Given the description of an element on the screen output the (x, y) to click on. 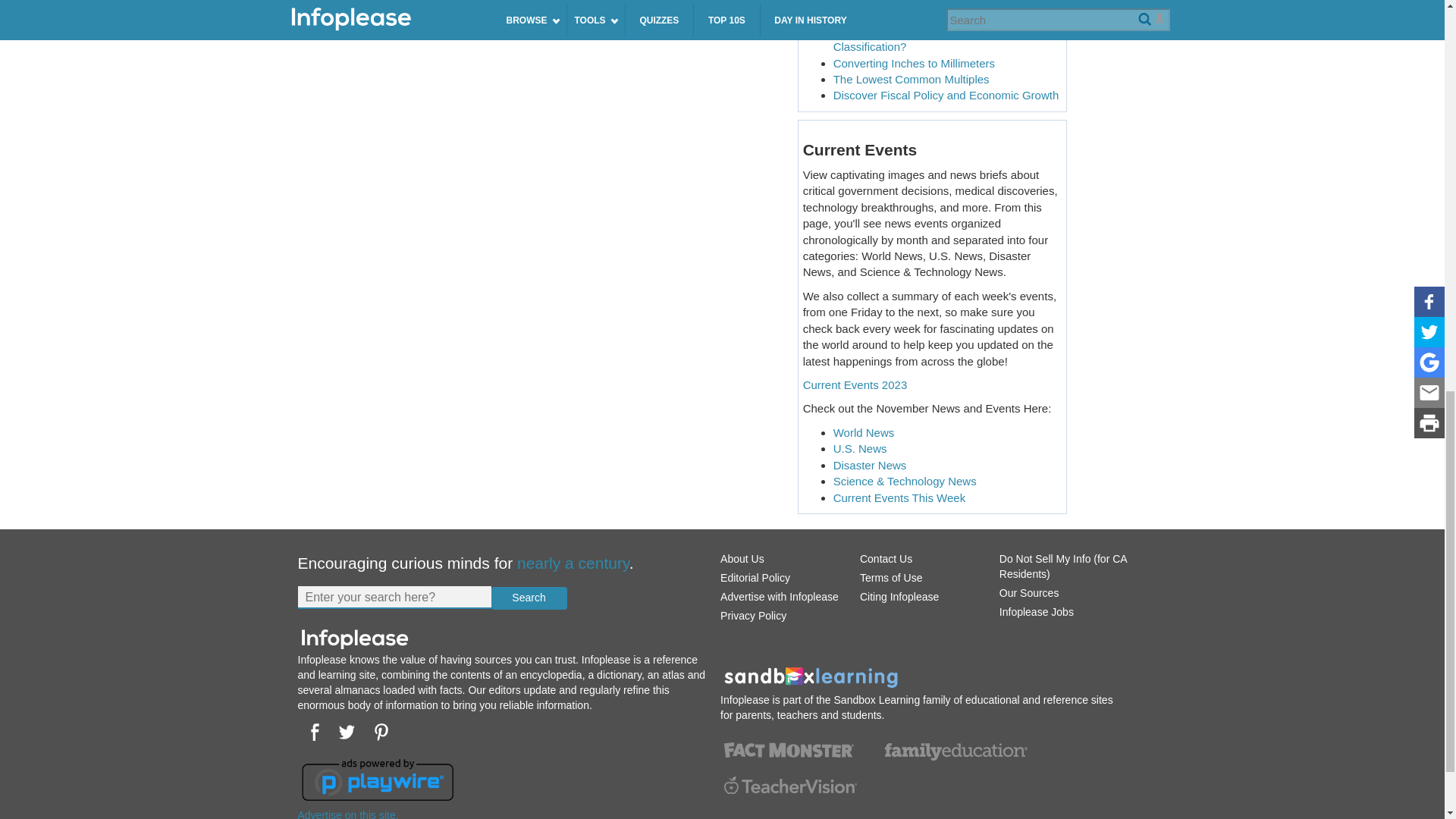
Search (529, 598)
